Given the description of an element on the screen output the (x, y) to click on. 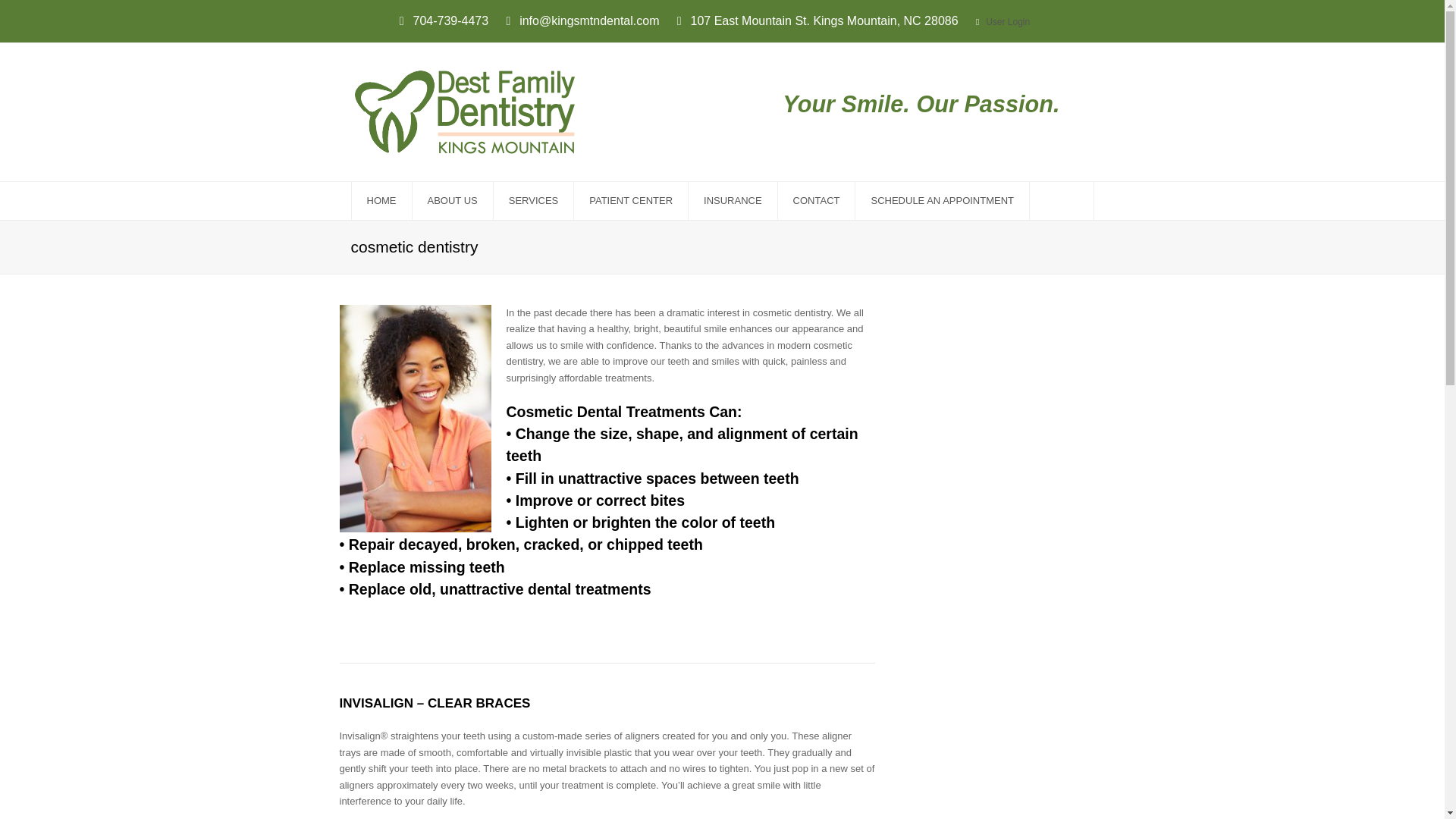
User Login (1007, 21)
CONTACT (816, 200)
INSURANCE (732, 200)
SERVICES (533, 200)
PATIENT CENTER (630, 200)
HOME (382, 200)
ABOUT US (452, 200)
SCHEDULE AN APPOINTMENT (942, 200)
